Given the description of an element on the screen output the (x, y) to click on. 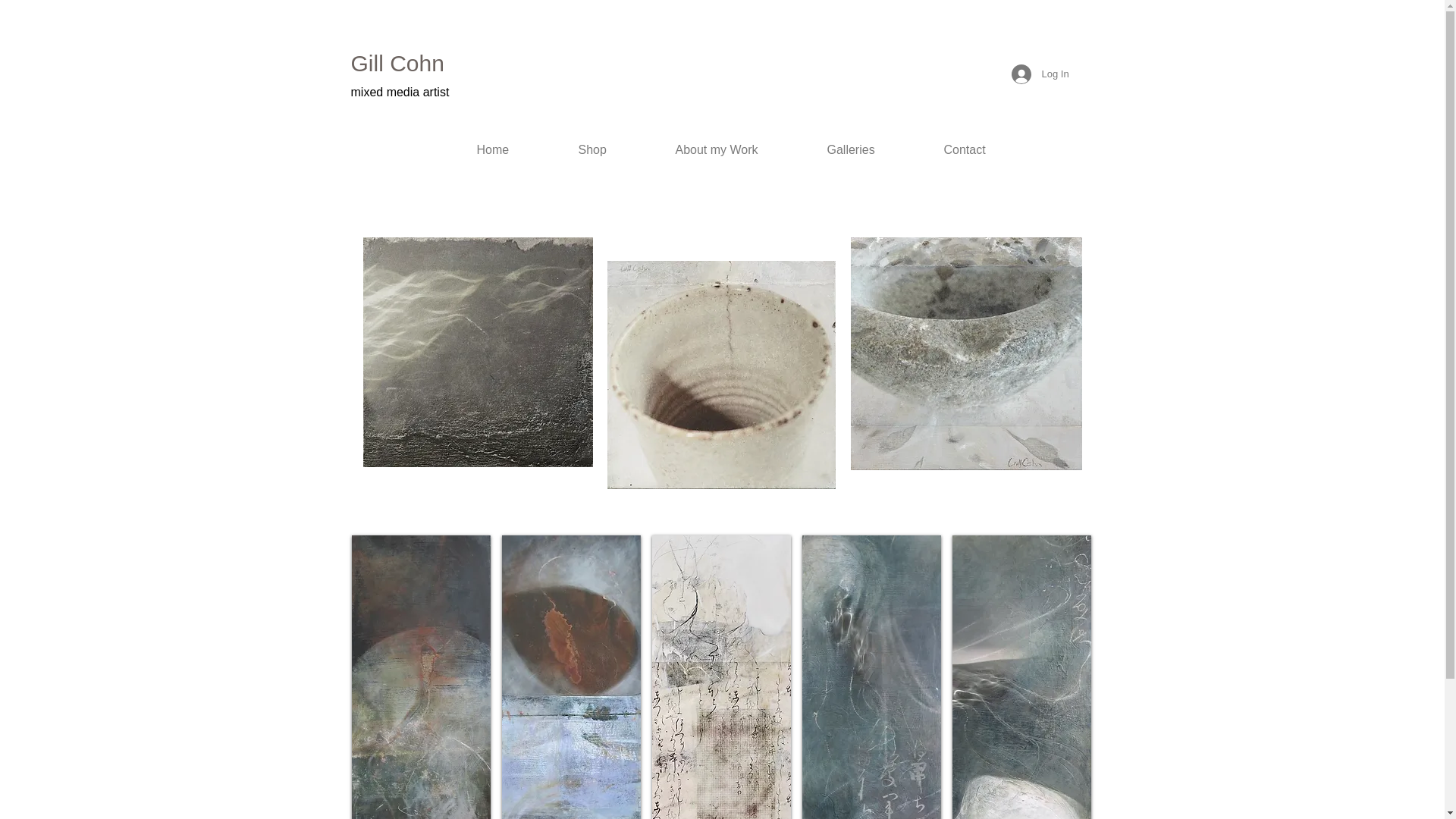
Contact Element type: text (987, 149)
Log In Element type: text (1032, 73)
Galleries Element type: text (873, 149)
Home Element type: text (516, 149)
Shop Element type: text (615, 149)
About my Work Element type: text (739, 149)
